Given the description of an element on the screen output the (x, y) to click on. 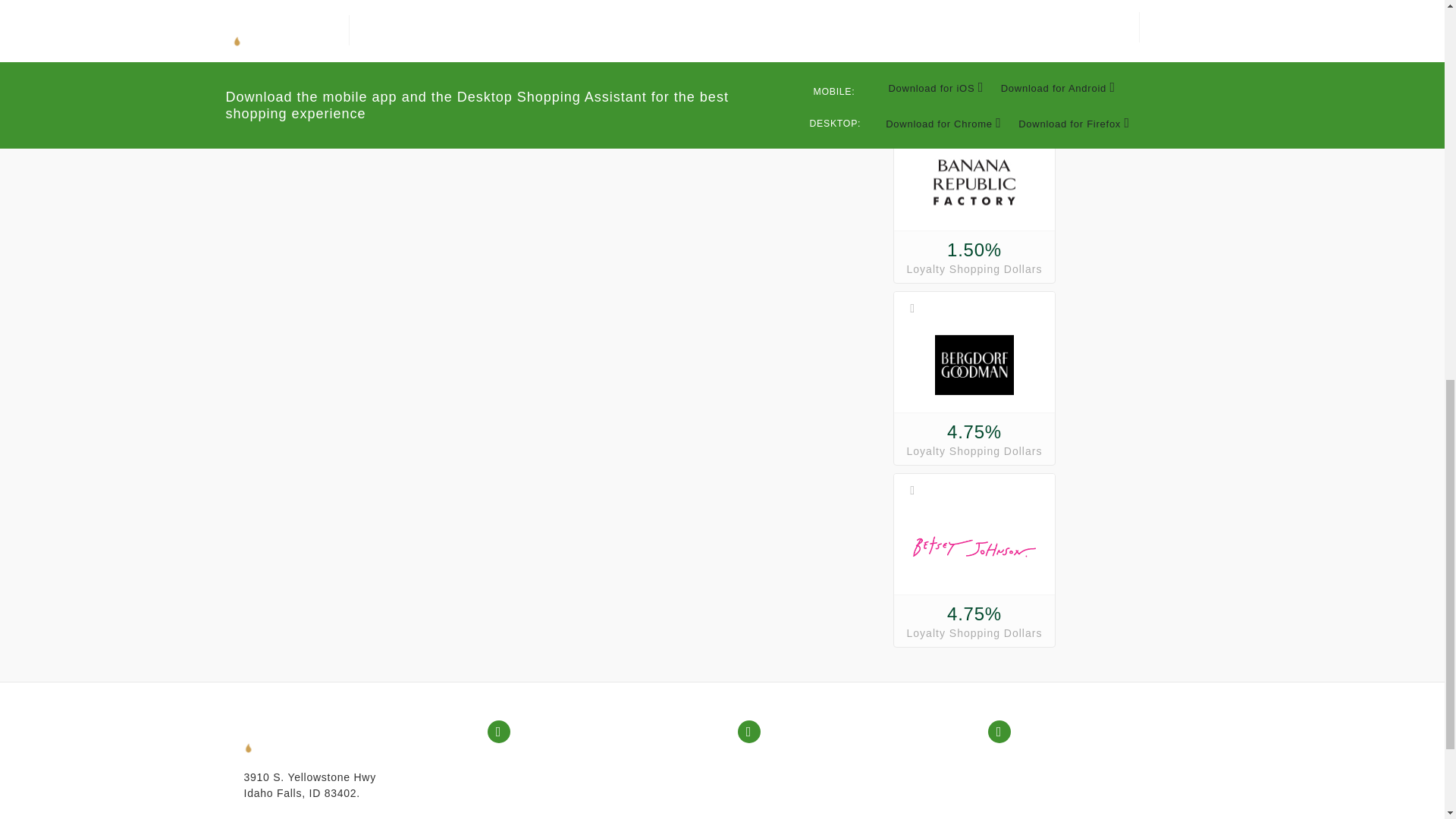
Product Store (540, 761)
Mobile Apps (1036, 761)
Marketplace (536, 799)
Privacy Policy (791, 779)
Business Center (547, 779)
Learn to Earn (540, 815)
Browser Extension (1053, 779)
Help (766, 761)
Terms of Use (788, 799)
